Given the description of an element on the screen output the (x, y) to click on. 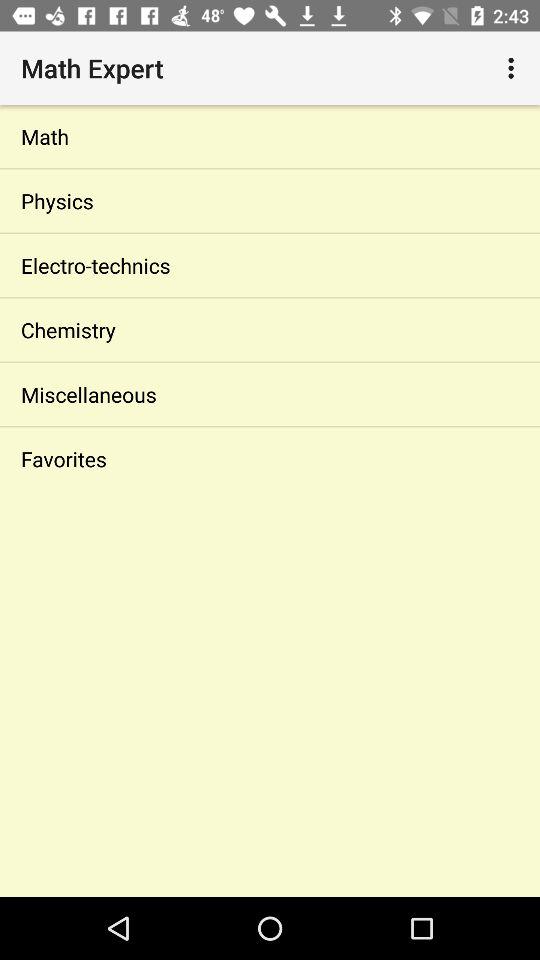
flip to the miscellaneous icon (270, 394)
